Given the description of an element on the screen output the (x, y) to click on. 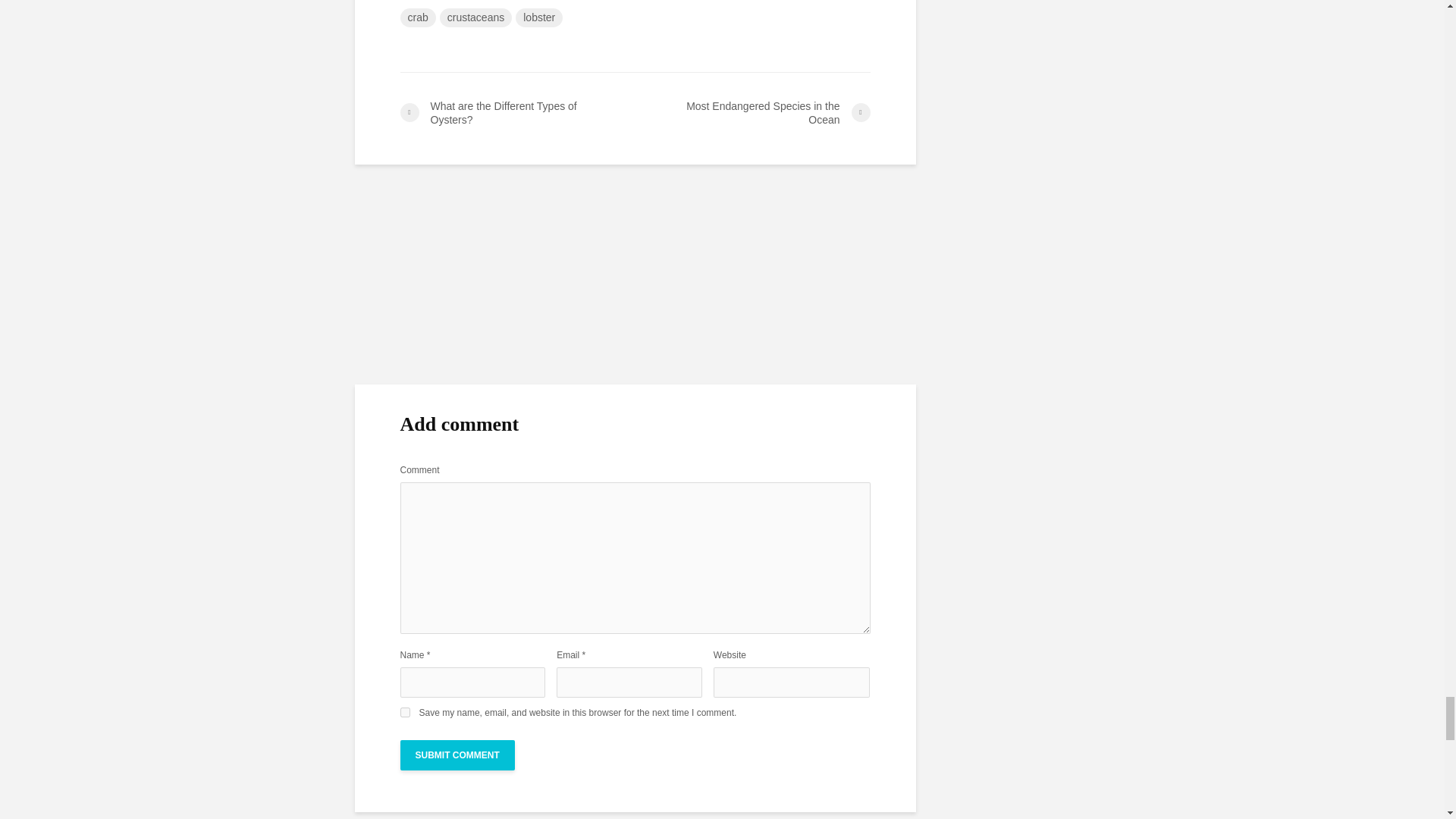
Submit Comment (457, 755)
yes (405, 712)
